Given the description of an element on the screen output the (x, y) to click on. 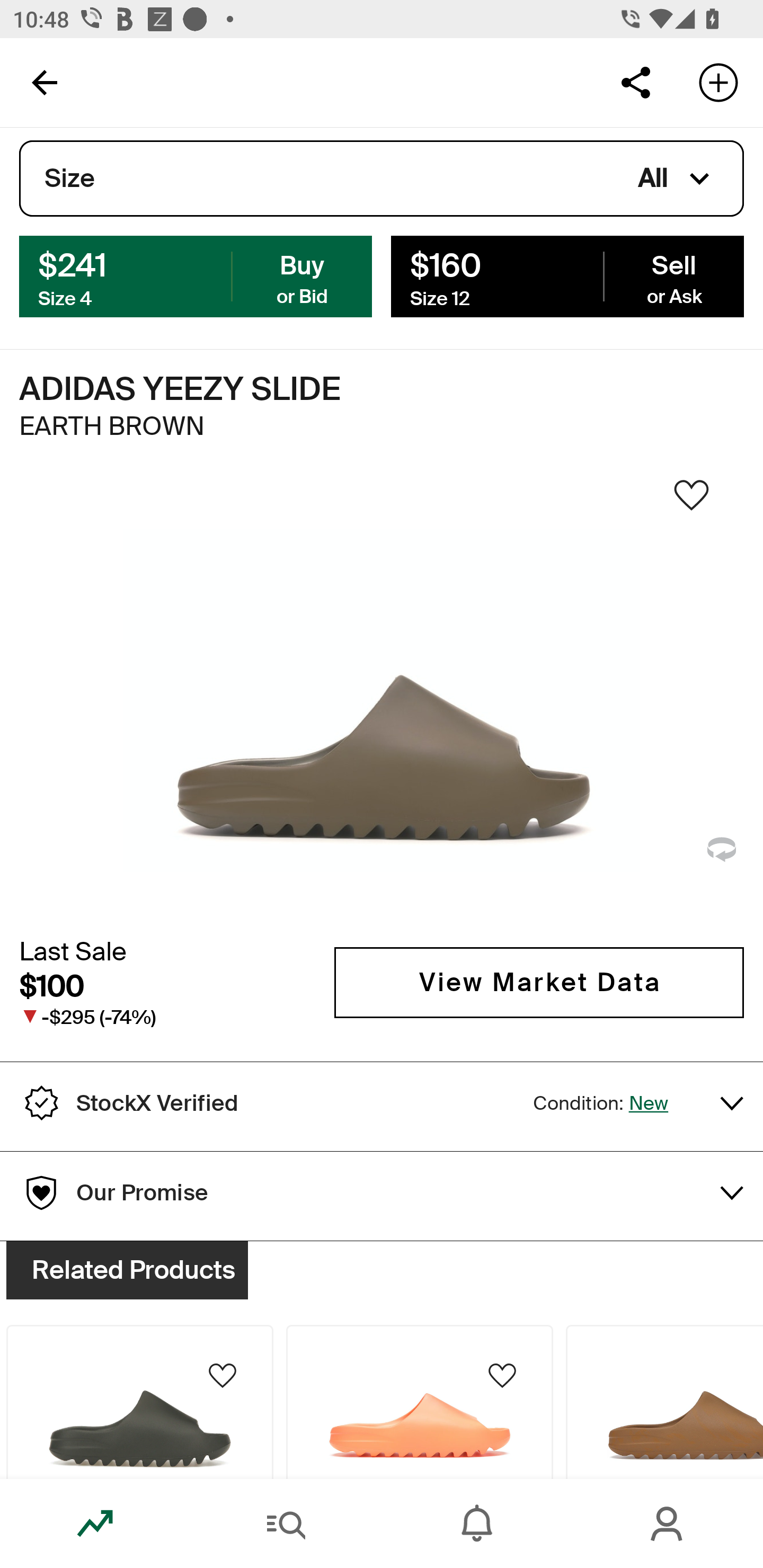
Share (635, 81)
Add (718, 81)
Size All (381, 178)
$99 Buy Size 9 or Bid (195, 275)
$132 Sell Size 13 or Ask (566, 275)
Sneaker Image (381, 699)
View Market Data (538, 982)
Product Image (139, 1401)
Product Image (419, 1401)
Product Image (664, 1401)
Search (285, 1523)
Inbox (476, 1523)
Account (667, 1523)
